Given the description of an element on the screen output the (x, y) to click on. 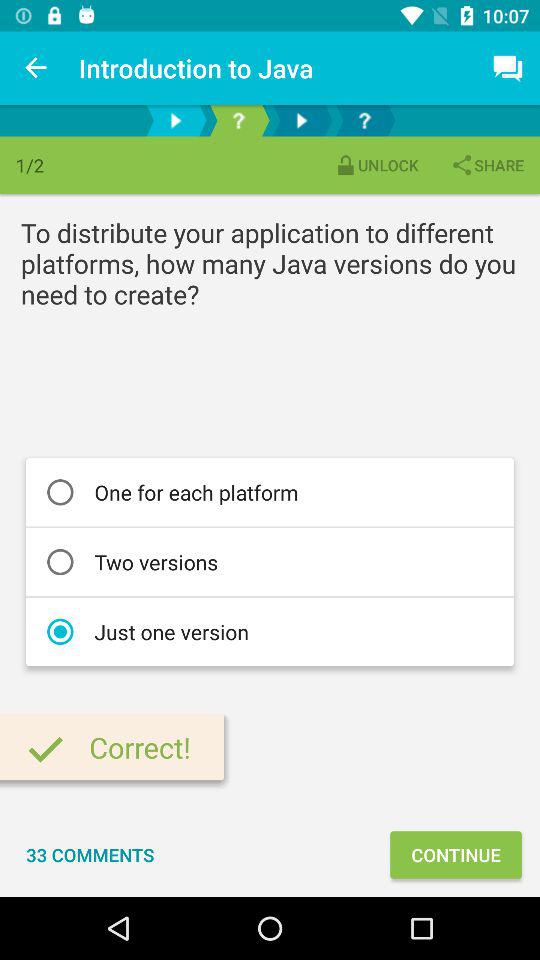
turn on the item above share item (508, 67)
